Given the description of an element on the screen output the (x, y) to click on. 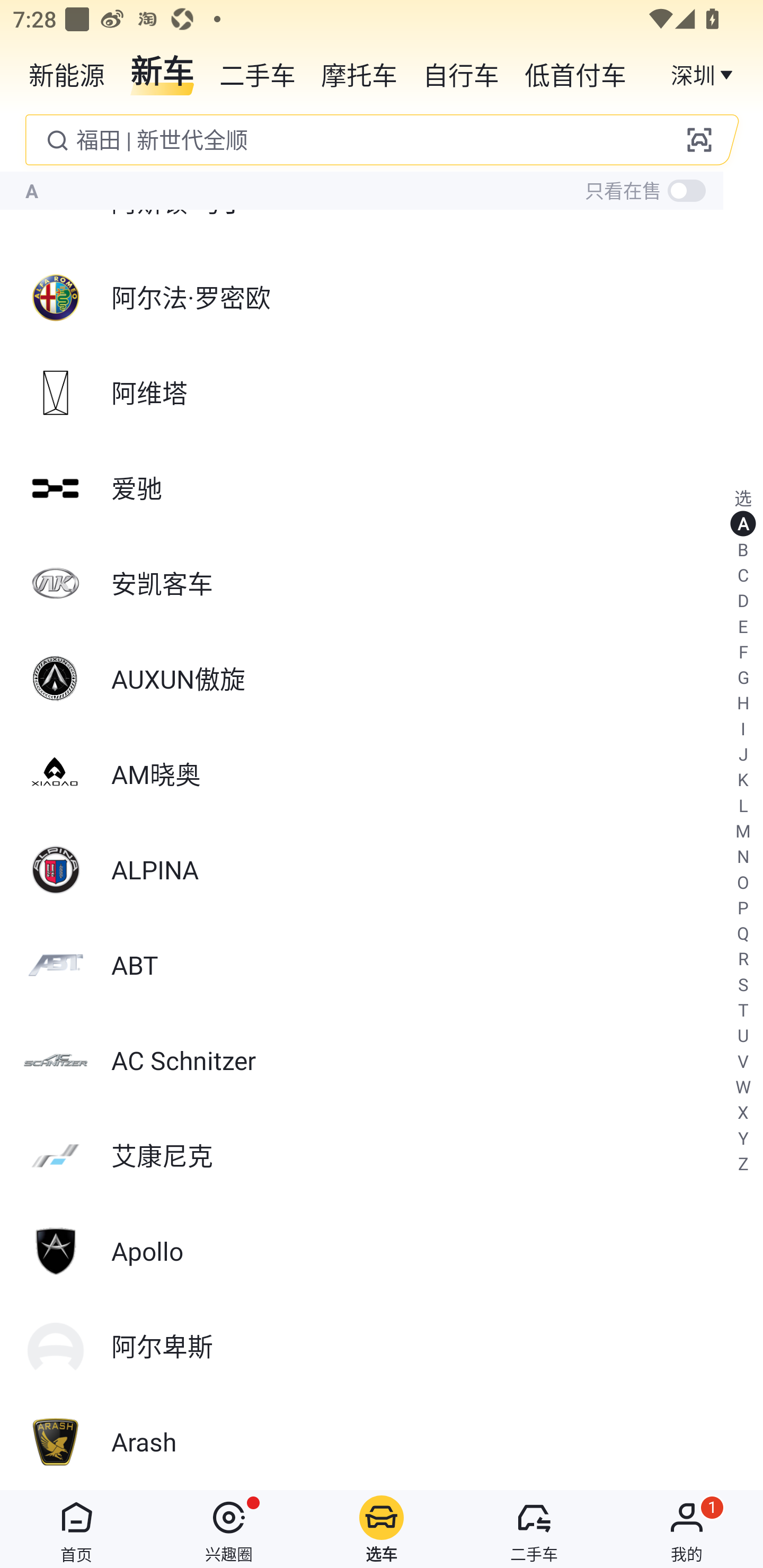
新能源 (66, 72)
新车 (161, 72)
二手车 (257, 72)
摩托车 (359, 72)
自行车 (460, 72)
低首付车 (575, 72)
深圳 (703, 72)
阿尔法·罗密欧 (381, 296)
阿维塔 (381, 392)
爱驰 (381, 488)
安凯客车 (381, 583)
AUXUN傲旋 (381, 679)
AM晓奥 (381, 774)
ALPINA (381, 869)
ABT (381, 964)
AC Schnitzer (381, 1060)
艾康尼克 (381, 1156)
Apollo (381, 1251)
阿尔卑斯 (381, 1345)
Arash (381, 1441)
 首页 (76, 1528)
 兴趣圈 (228, 1528)
选车 (381, 1528)
 二手车 (533, 1528)
 我的 (686, 1528)
